Given the description of an element on the screen output the (x, y) to click on. 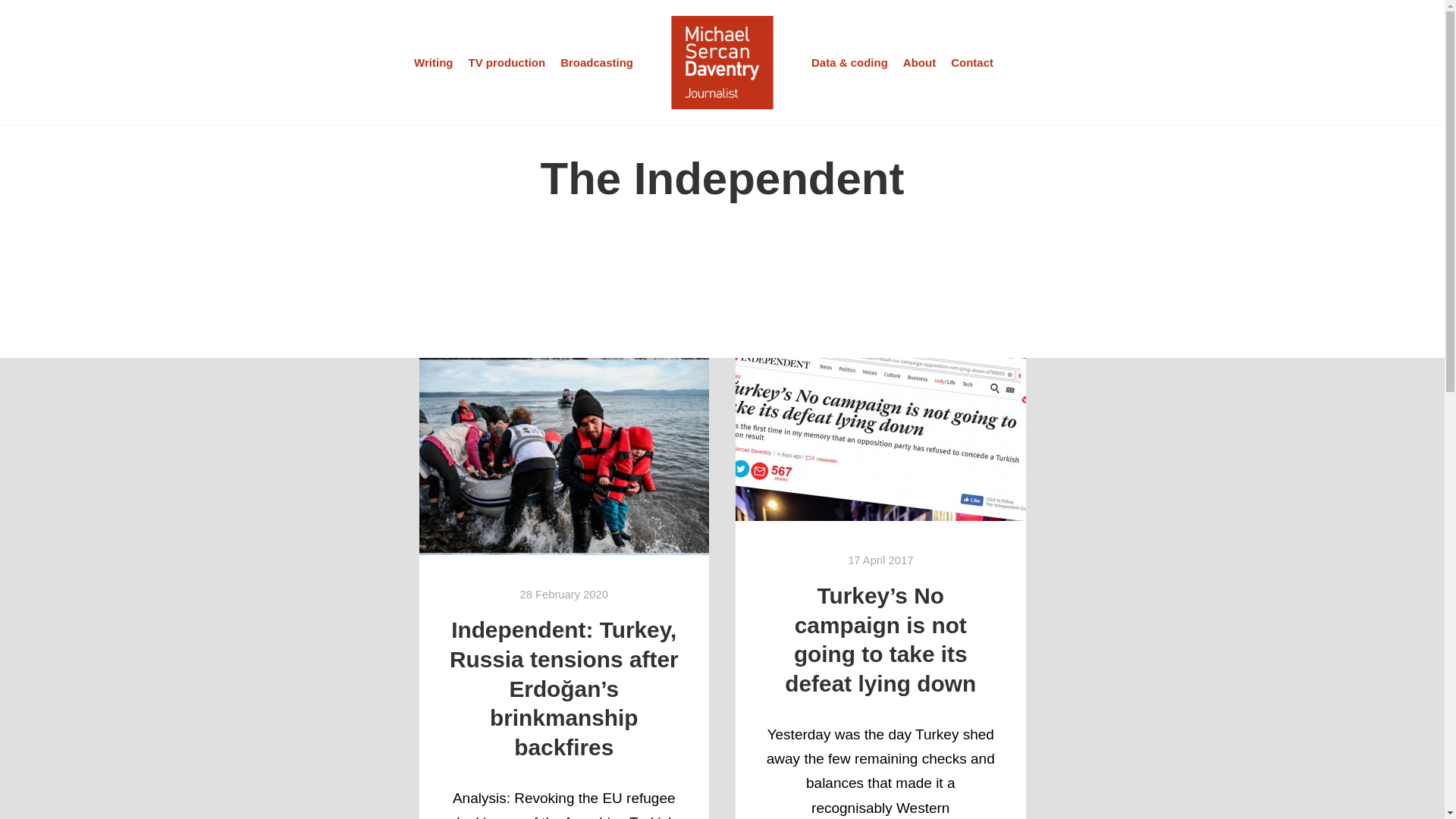
Michael Sercan Daventry (722, 62)
